Given the description of an element on the screen output the (x, y) to click on. 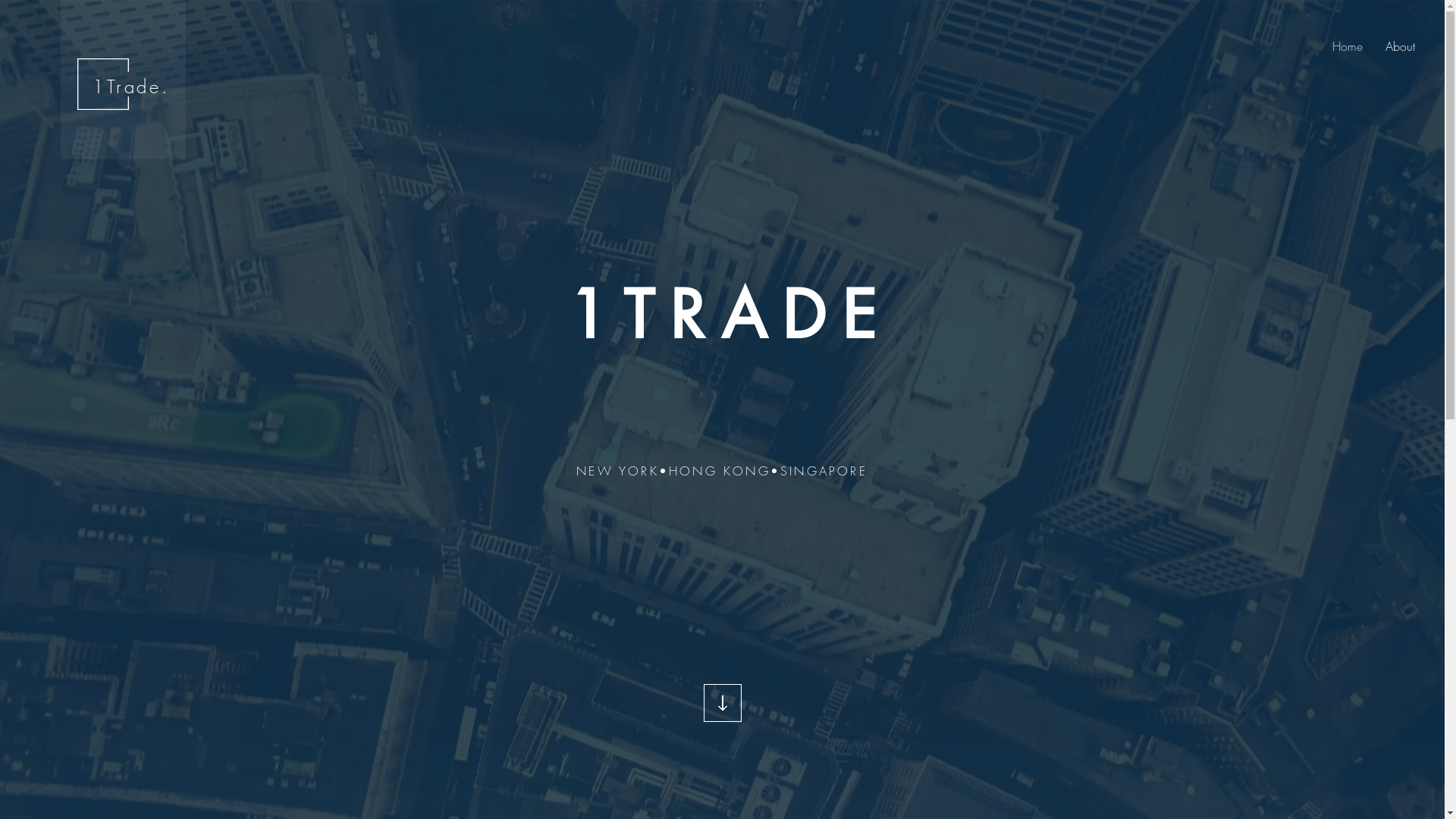
1Trade. Element type: text (130, 86)
About Element type: text (1400, 46)
Home Element type: text (1347, 46)
